Given the description of an element on the screen output the (x, y) to click on. 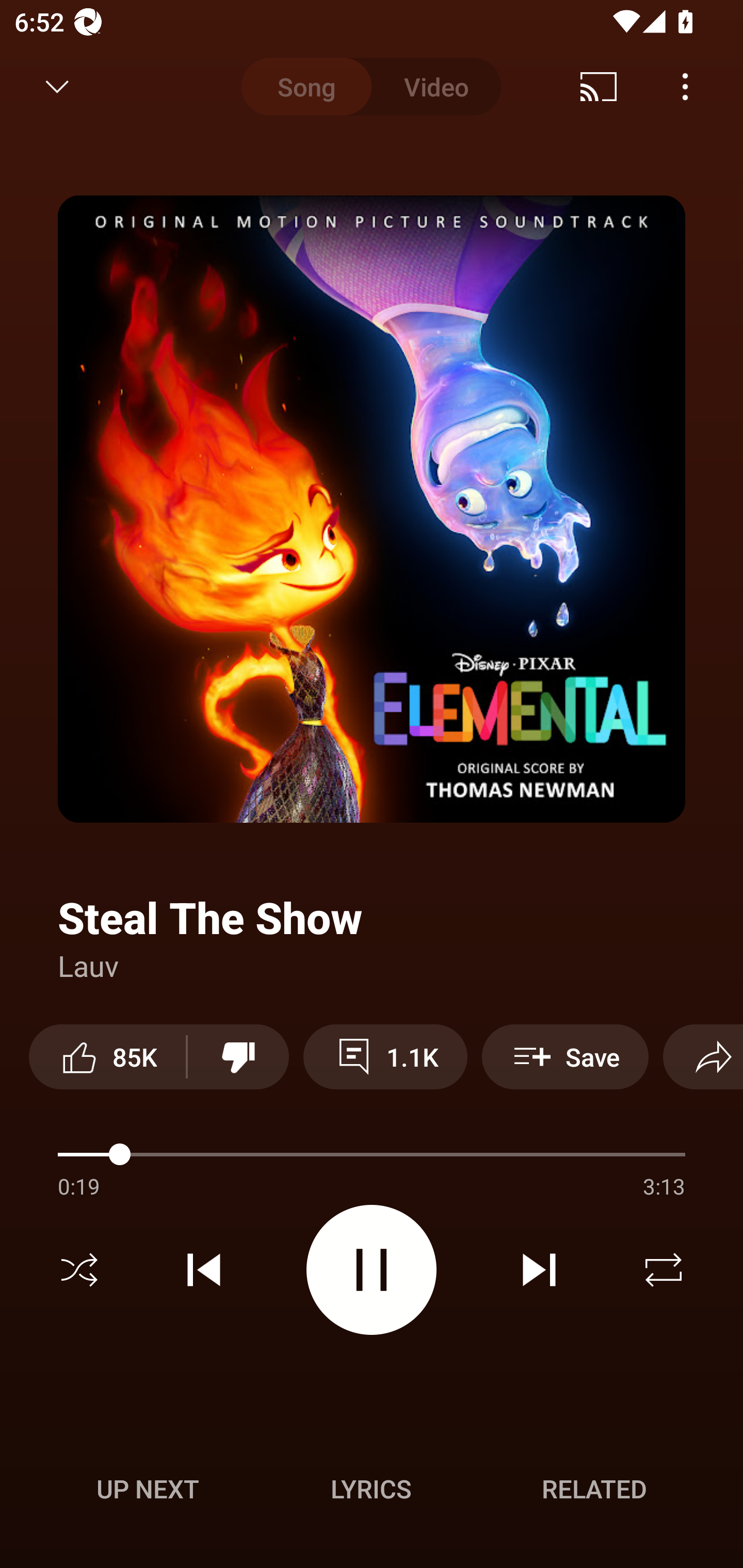
Minimize (57, 86)
Cast. Disconnected (598, 86)
Menu (684, 86)
85K like this video along with 85,792 other people (106, 1056)
Undo dislike (238, 1056)
1.1K View 1,180 comments (385, 1056)
Save Save to playlist (565, 1056)
Share (702, 1056)
Pause video (371, 1269)
Shuffle off (79, 1269)
Previous track (203, 1269)
Next track (538, 1269)
Repeat off (663, 1269)
Up next UP NEXT Lyrics LYRICS Related RELATED (371, 1491)
Lyrics LYRICS (370, 1488)
Related RELATED (594, 1488)
